Given the description of an element on the screen output the (x, y) to click on. 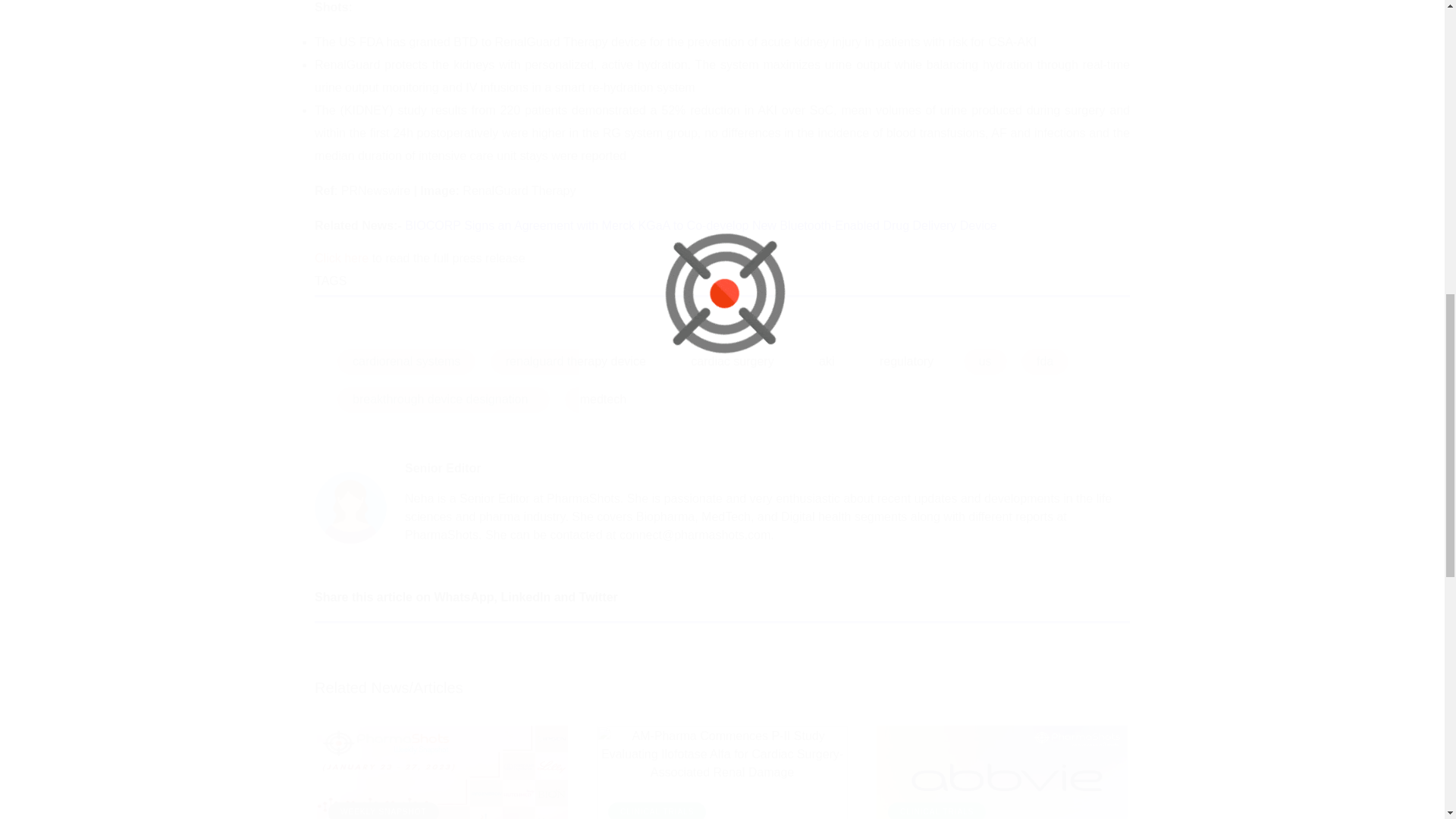
medtech (603, 399)
cardiac surgery (732, 361)
Click here (341, 257)
renalguard therapy device (575, 361)
cardiorenal systems (406, 361)
Senior Editor (442, 468)
fda (1045, 361)
aki (825, 361)
us (985, 361)
